Given the description of an element on the screen output the (x, y) to click on. 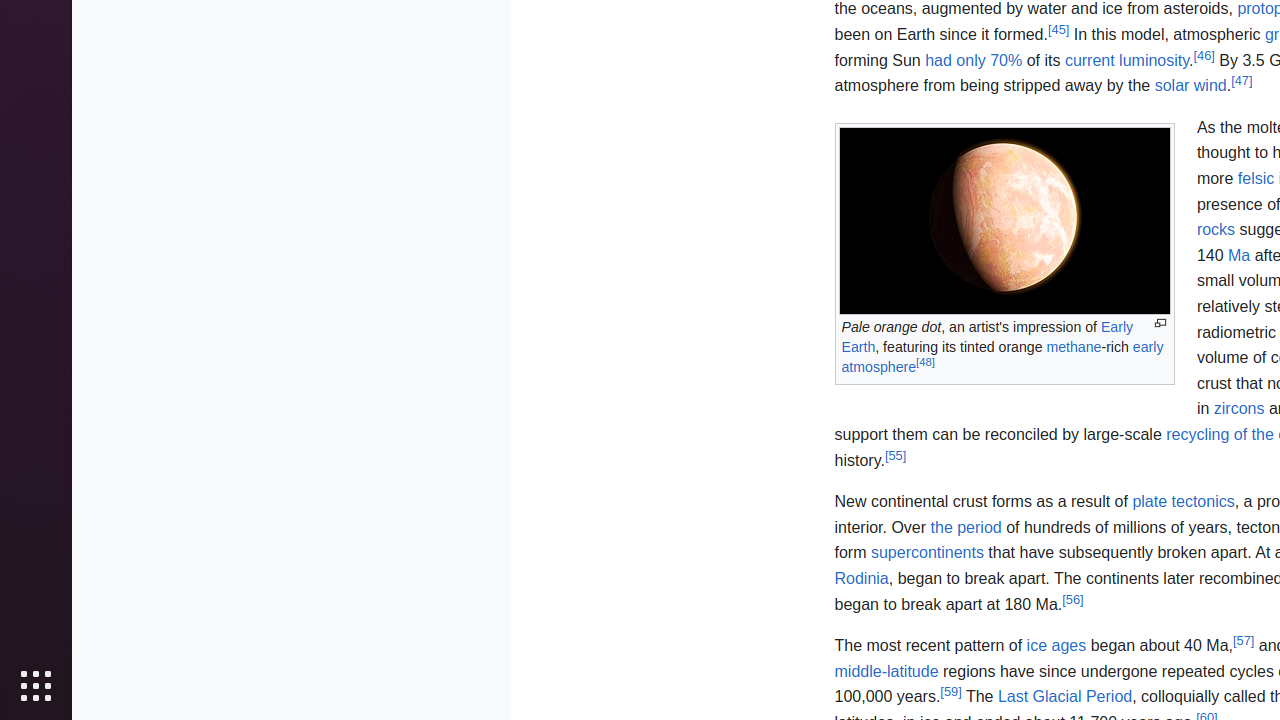
the period Element type: link (966, 527)
Show Applications Element type: toggle-button (36, 686)
[46] Element type: link (1204, 54)
[47] Element type: link (1242, 80)
